Given the description of an element on the screen output the (x, y) to click on. 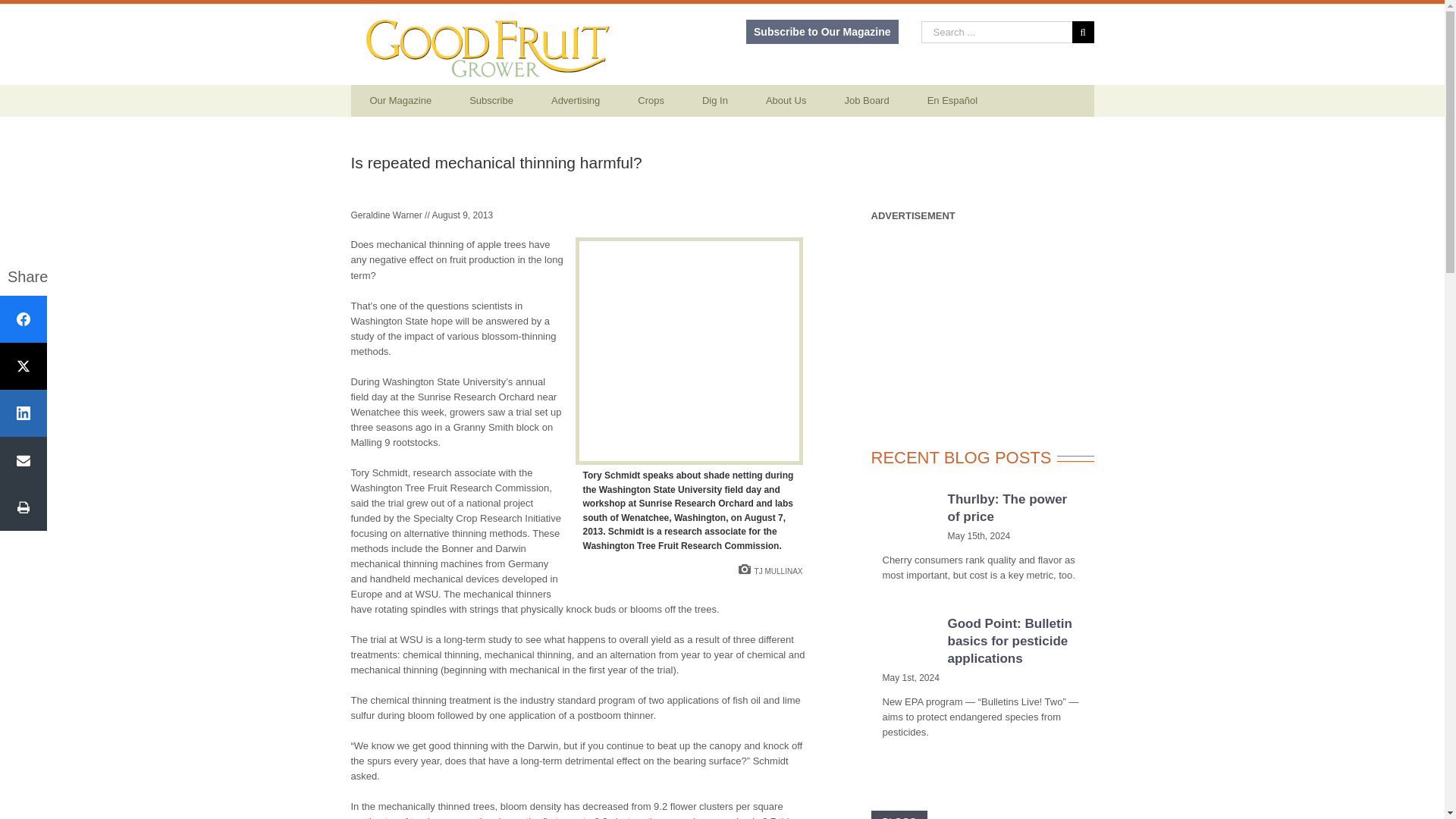
Subscribe to Our Magazine (821, 31)
Subscribe (490, 101)
Our Magazine (400, 101)
About Us (785, 101)
Advertising (575, 101)
